Given the description of an element on the screen output the (x, y) to click on. 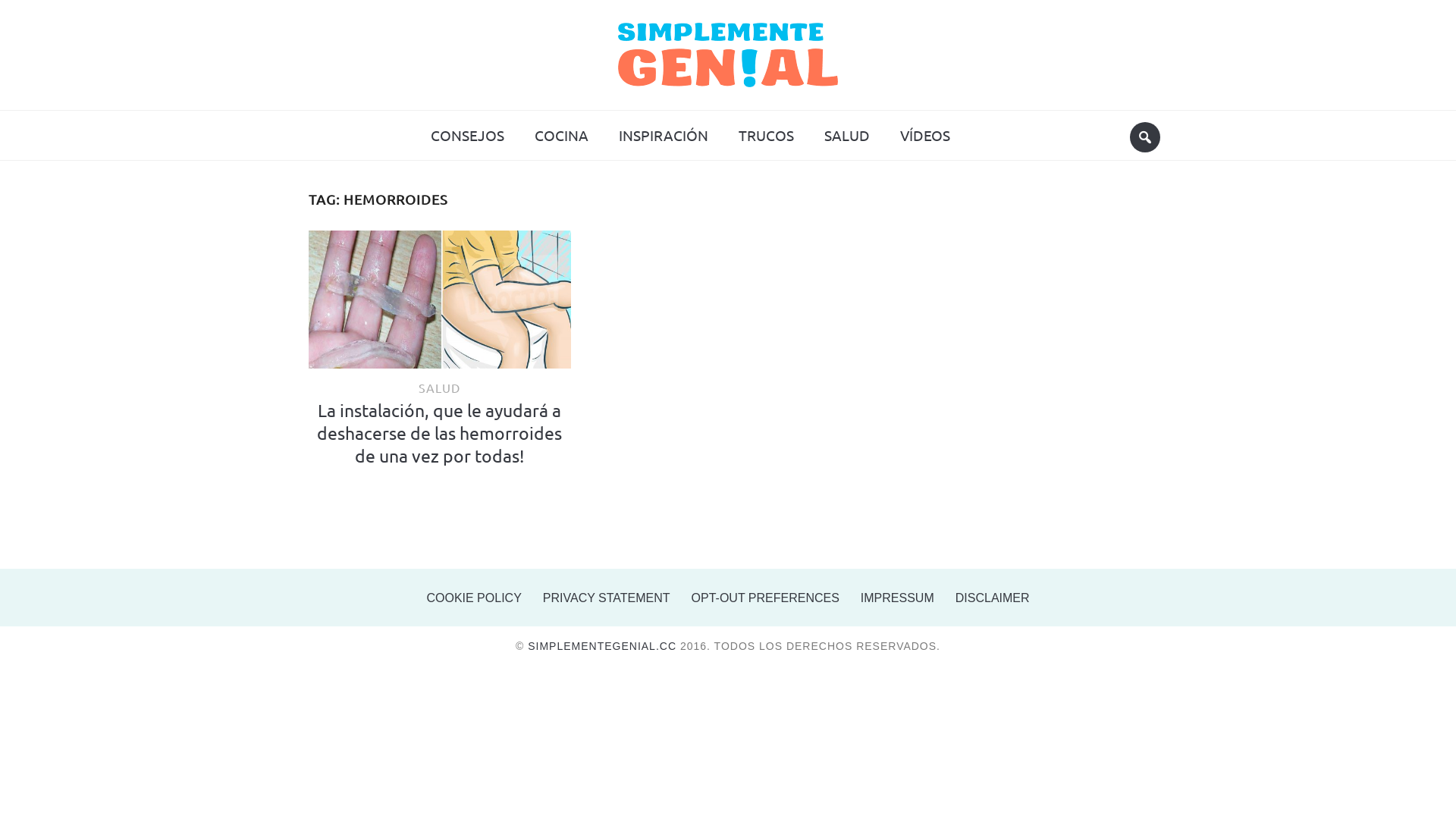
OPT-OUT PREFERENCES Element type: text (765, 597)
IMPRESSUM Element type: text (897, 597)
SALUD Element type: text (439, 387)
CONSEJOS Element type: text (466, 135)
DISCLAIMER Element type: text (992, 597)
SIMPLEMENTEGENIAL.CC Element type: text (601, 646)
PRIVACY STATEMENT Element type: text (606, 597)
COOKIE POLICY Element type: text (473, 597)
TRUCOS Element type: text (765, 135)
Buscar Element type: text (1144, 137)
COCINA Element type: text (561, 135)
SALUD Element type: text (846, 135)
